Given the description of an element on the screen output the (x, y) to click on. 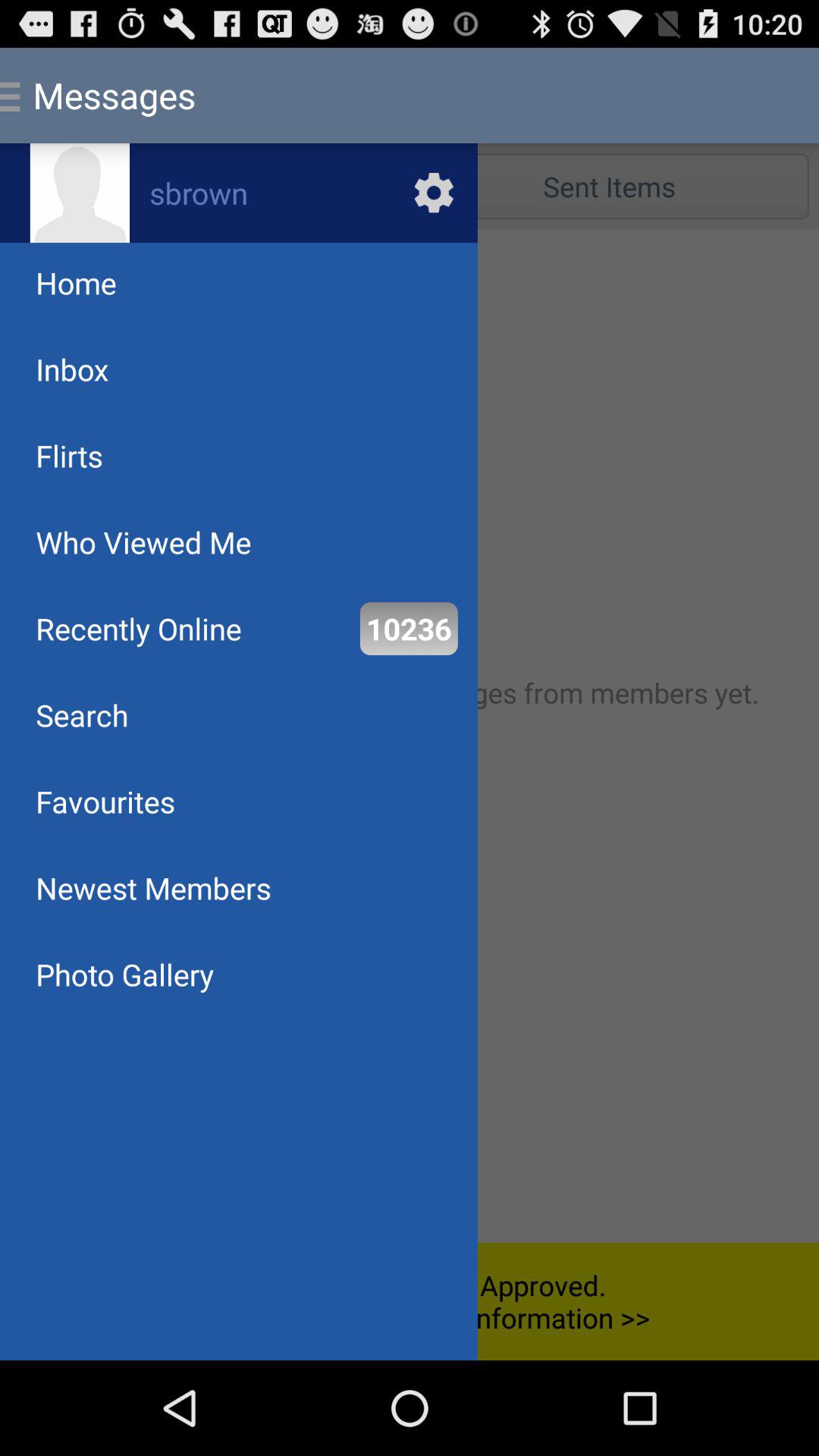
swipe to the your profile is button (409, 1301)
